Given the description of an element on the screen output the (x, y) to click on. 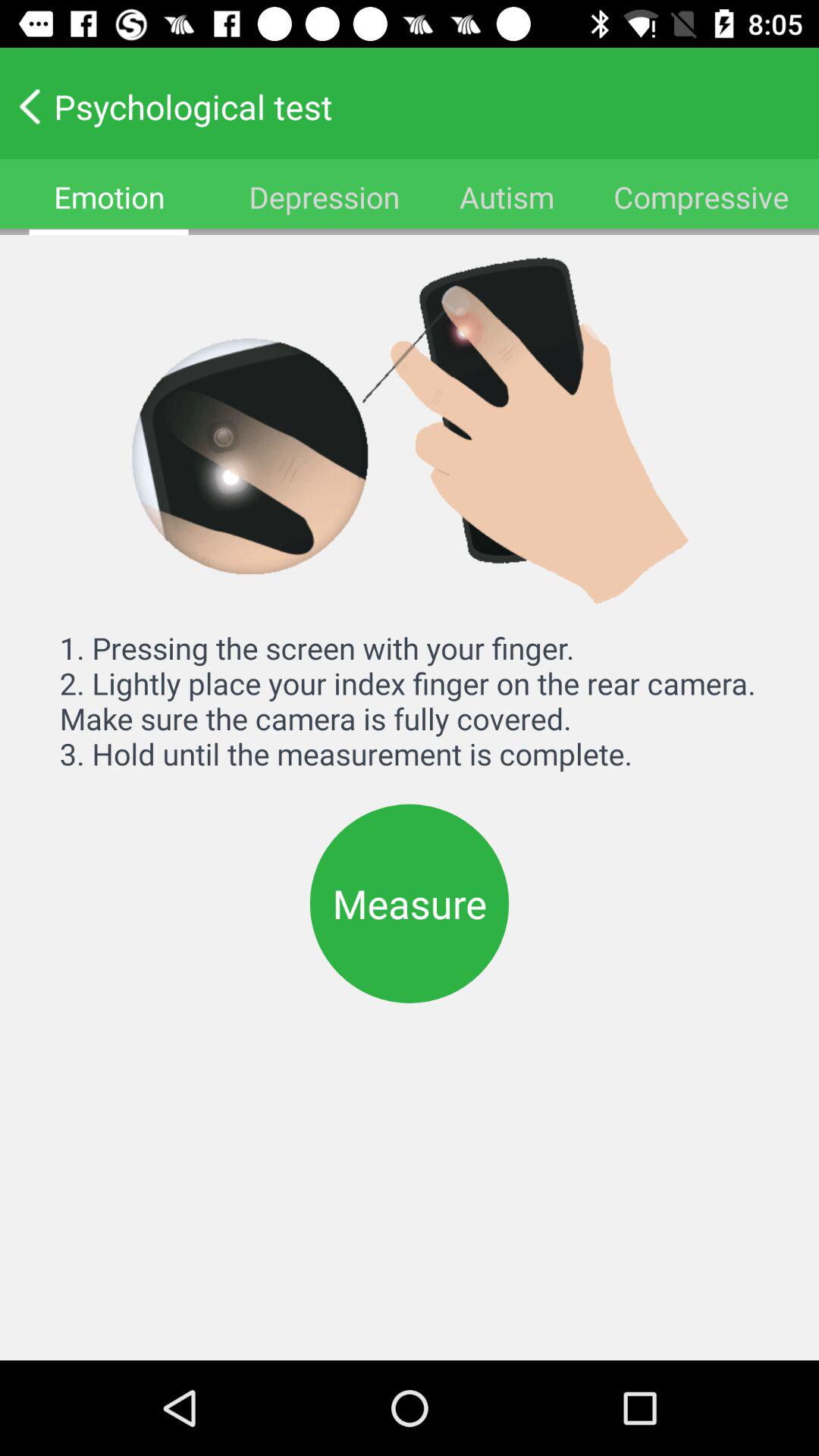
launch the autism icon (506, 196)
